Given the description of an element on the screen output the (x, y) to click on. 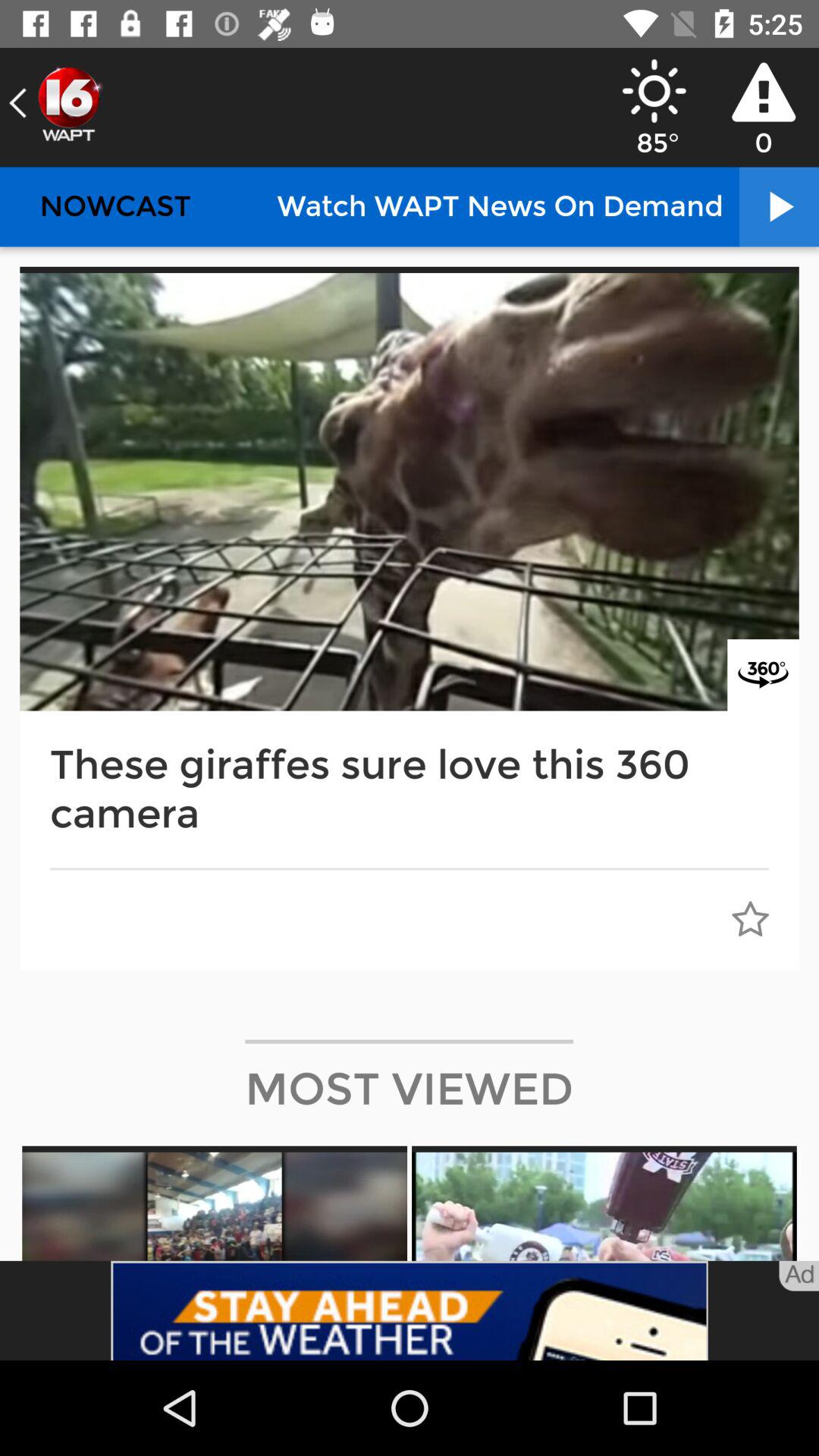
advertisement (409, 1310)
